Given the description of an element on the screen output the (x, y) to click on. 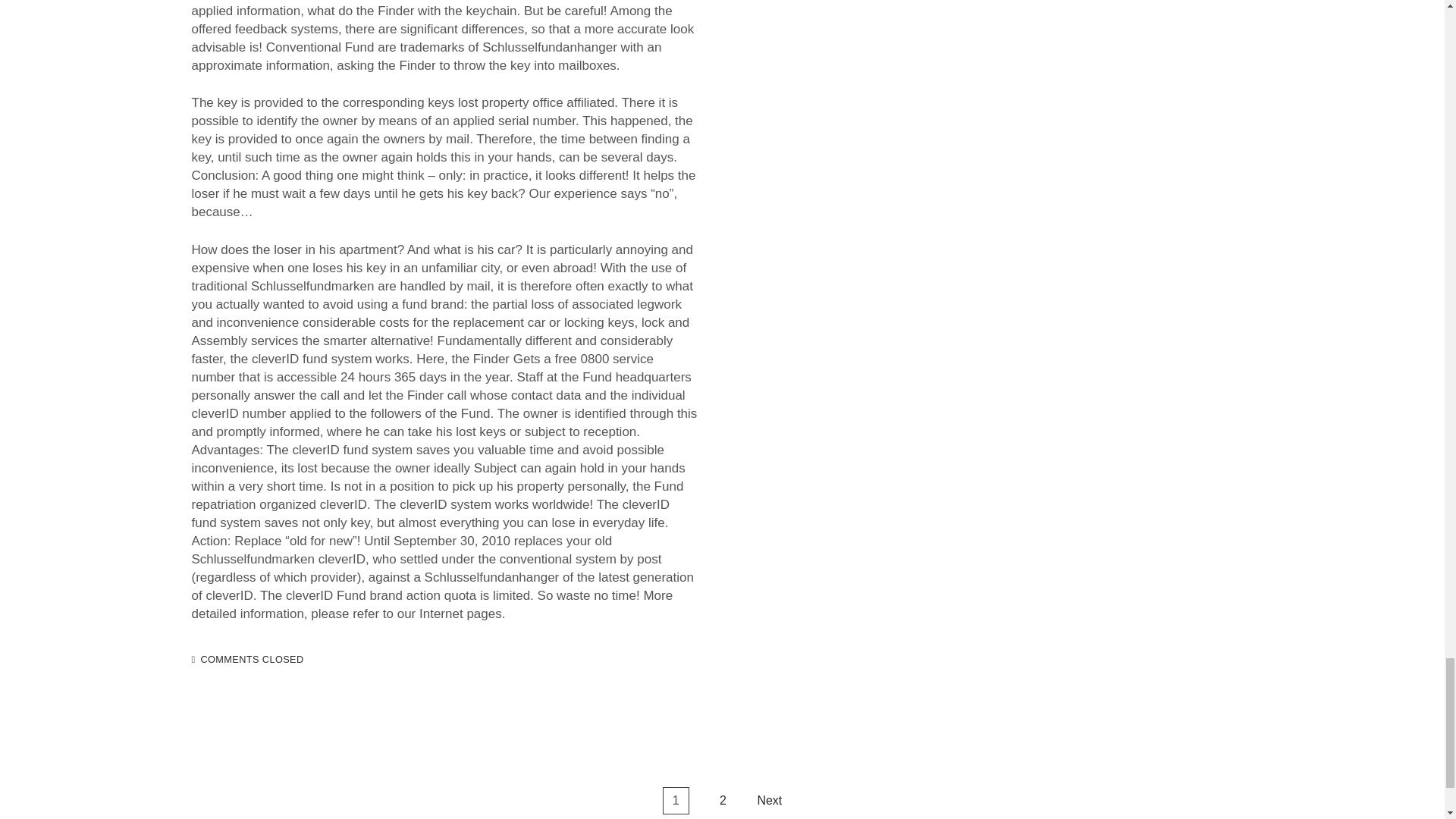
2 (722, 800)
Next (769, 800)
comment icon (192, 660)
